Given the description of an element on the screen output the (x, y) to click on. 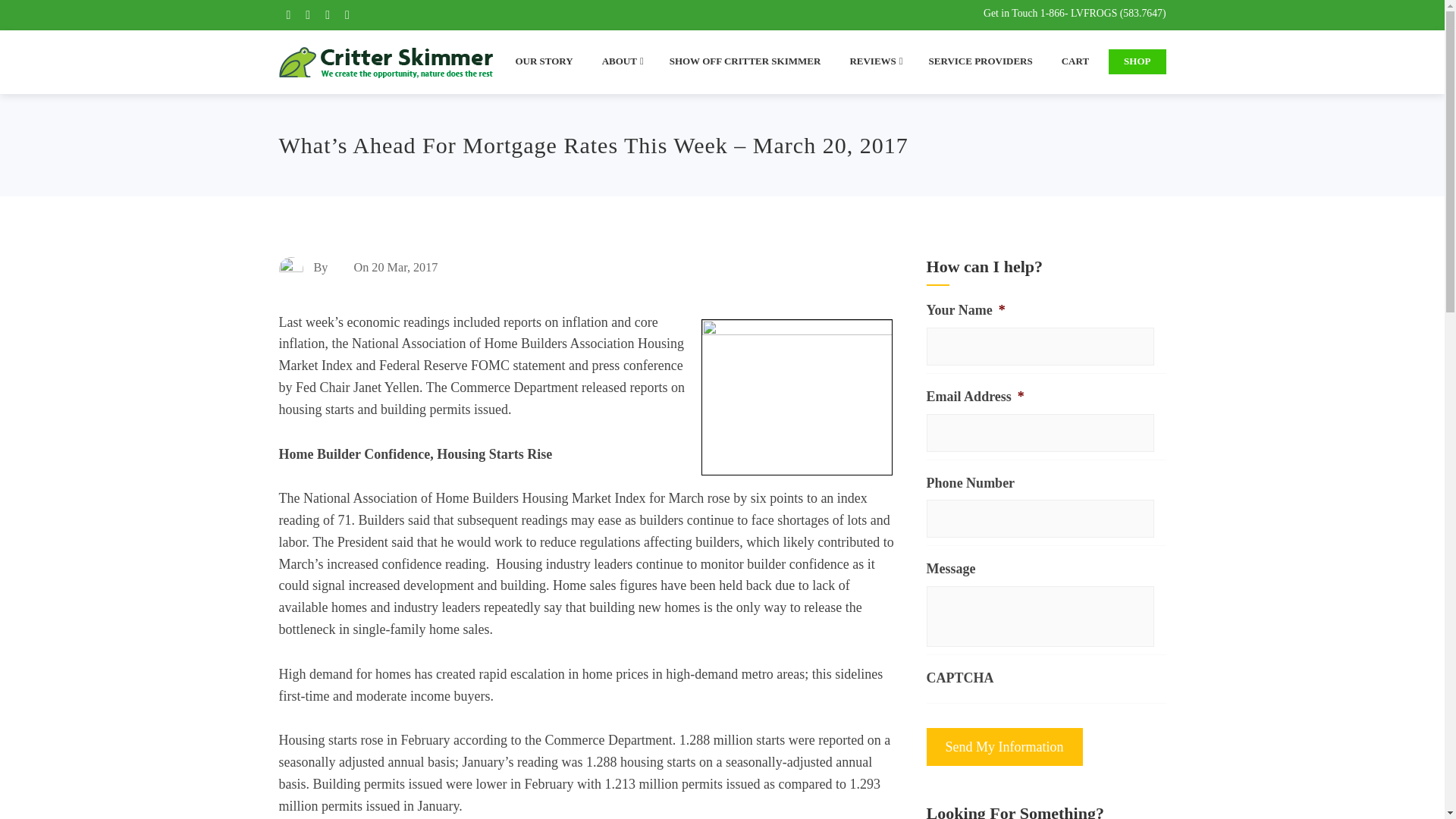
REVIEWS (874, 61)
CART (1074, 61)
SERVICE PROVIDERS (981, 61)
SHOW OFF CRITTER SKIMMER (745, 61)
ABOUT (620, 61)
SHOP (1137, 61)
1-866 (1052, 12)
OUR STORY (543, 61)
Send My Information (1004, 746)
